Given the description of an element on the screen output the (x, y) to click on. 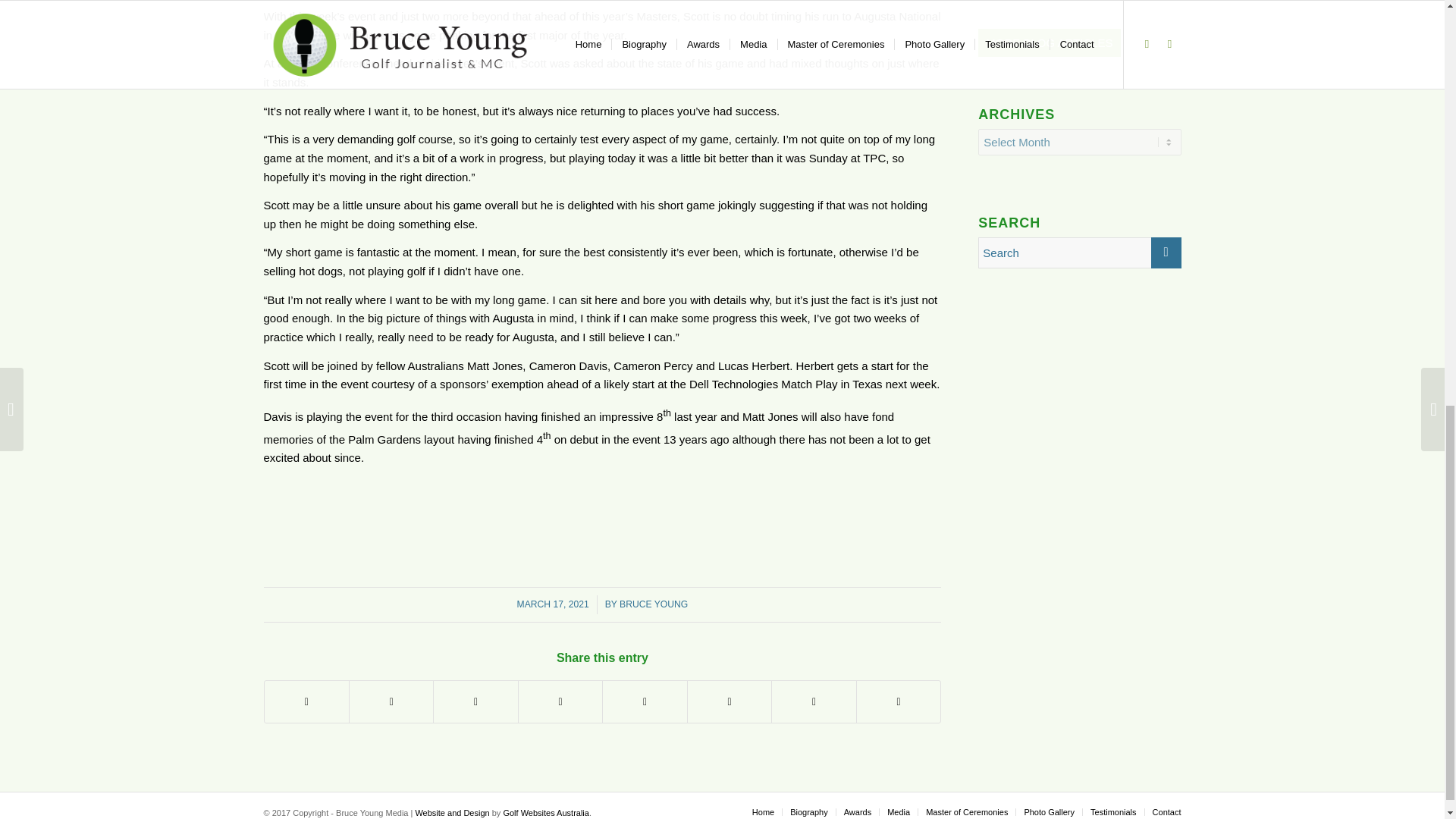
Golf Websites Australia (545, 812)
Posts by Bruce Young (653, 603)
Website and Design (451, 812)
MORE BLOG ARTICLES (1048, 42)
BRUCE YOUNG (653, 603)
Home (763, 811)
